Given the description of an element on the screen output the (x, y) to click on. 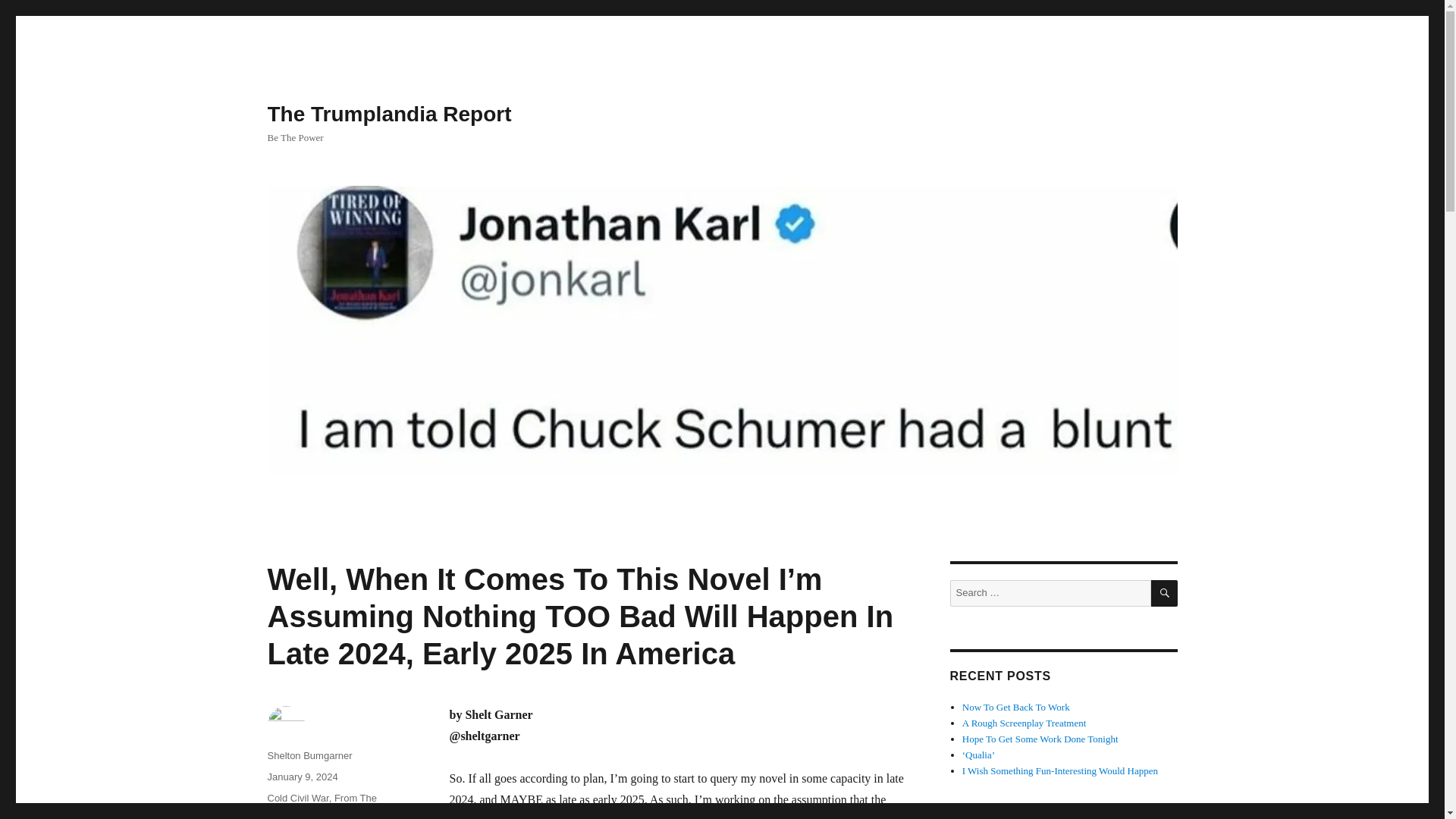
SEARCH (1164, 592)
Hope To Get Some Work Done Tonight (1040, 738)
I Wish Something Fun-Interesting Would Happen (1059, 770)
Cold Civil War (297, 797)
From The Editor (321, 805)
January 9, 2024 (301, 776)
The Trumplandia Report (388, 114)
Shelton Bumgarner (309, 755)
Now To Get Back To Work (1016, 706)
Hindsight 2020 (331, 813)
